Given the description of an element on the screen output the (x, y) to click on. 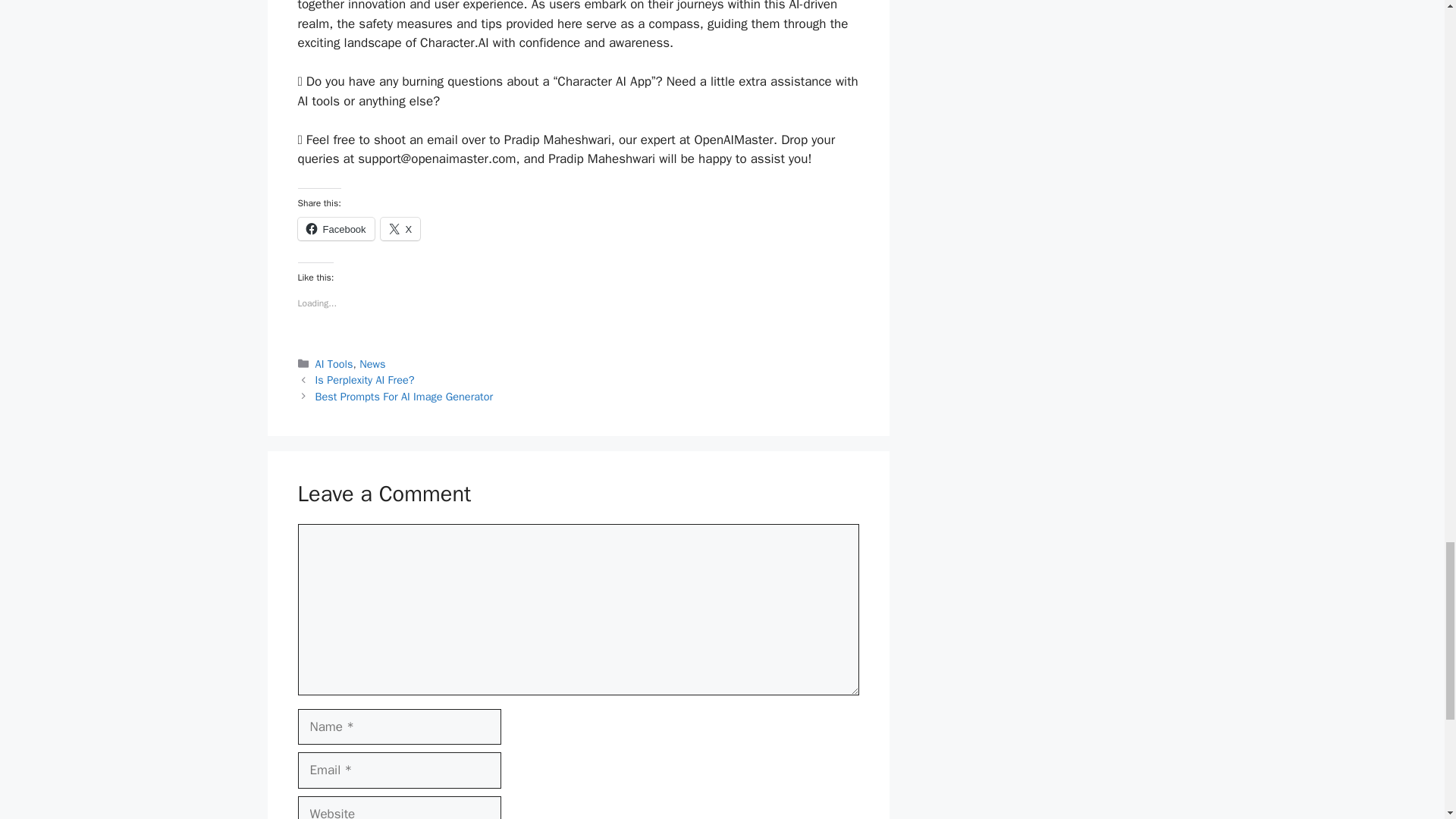
X (400, 228)
AI Tools (334, 364)
News (372, 364)
Click to share on X (400, 228)
Facebook (335, 228)
Click to share on Facebook (335, 228)
Is Perplexity AI Free? (364, 379)
Best Prompts For AI Image Generator (404, 396)
